Given the description of an element on the screen output the (x, y) to click on. 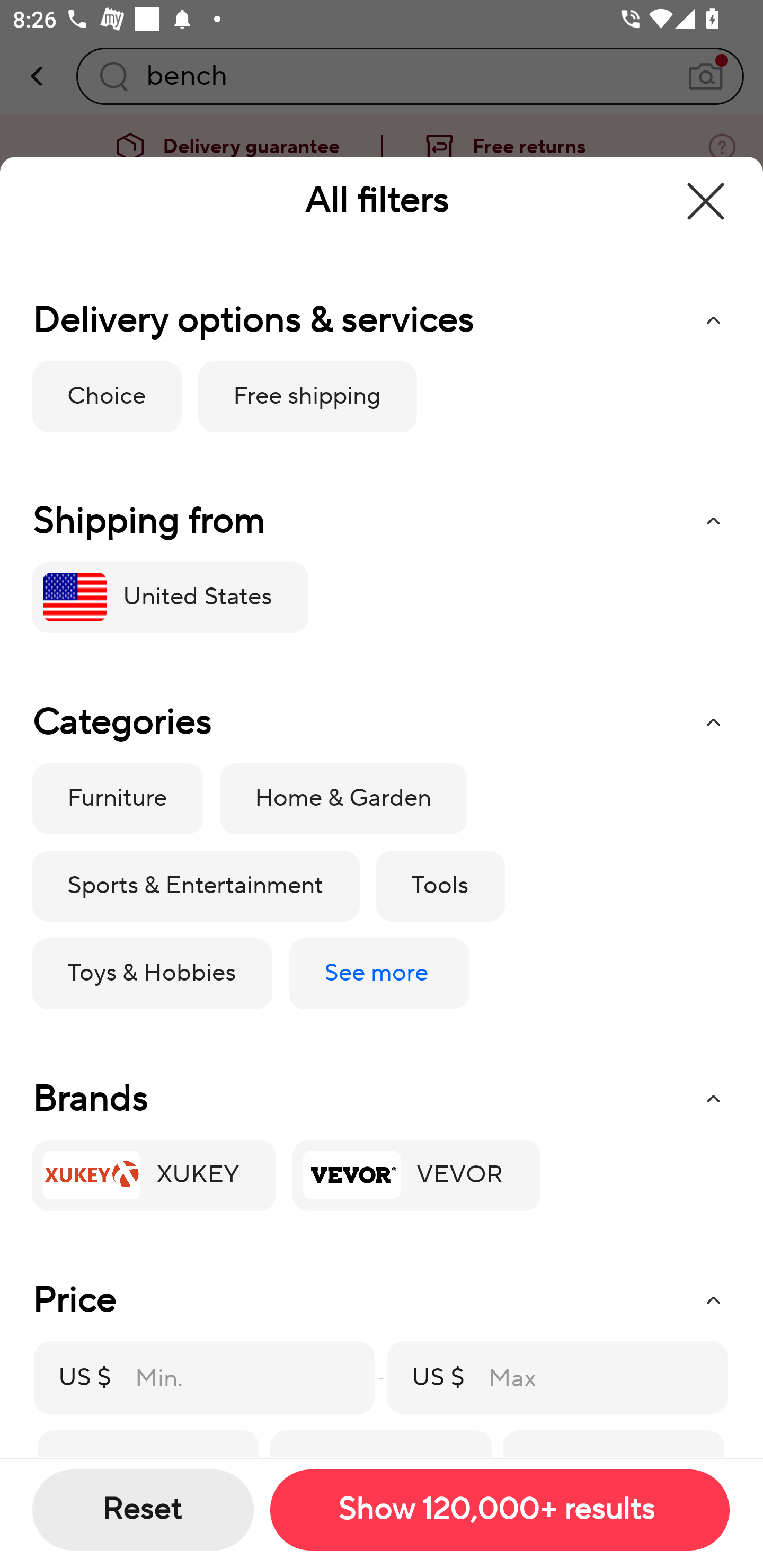
Delivery options & services  (381, 320)
Choice (106, 396)
Free shipping (307, 396)
Shipping from  (381, 521)
United States (170, 597)
Categories (381, 722)
Furniture (117, 798)
Home & Garden (342, 798)
Sports & Entertainment (196, 886)
Tools (440, 886)
Toys & Hobbies (152, 973)
See more  (378, 973)
Brands (381, 1098)
XUKEY (154, 1174)
VEVOR (416, 1174)
Price (381, 1300)
Min. (229, 1377)
Max (583, 1377)
Reset (143, 1509)
Show 120,000+ results  (499, 1509)
